Given the description of an element on the screen output the (x, y) to click on. 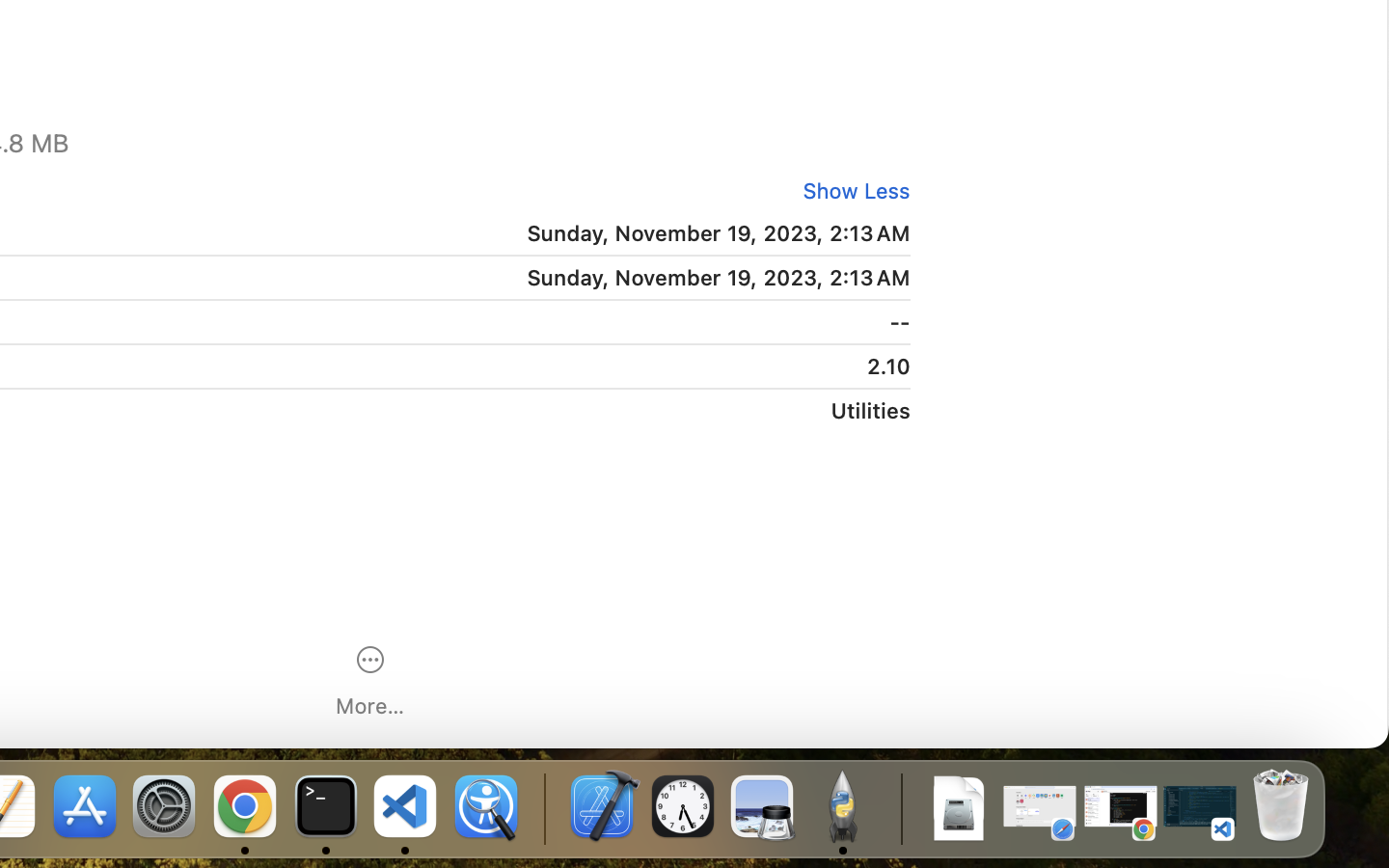
0.4285714328289032 Element type: AXDockItem (541, 807)
1 Element type: AXCheckBox (849, 190)
